Given the description of an element on the screen output the (x, y) to click on. 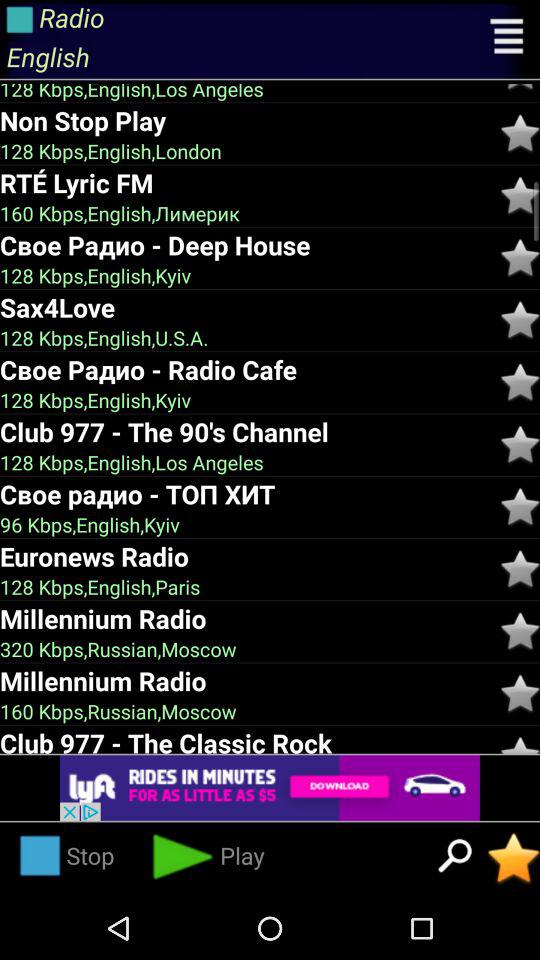
add to favourites (520, 569)
